Given the description of an element on the screen output the (x, y) to click on. 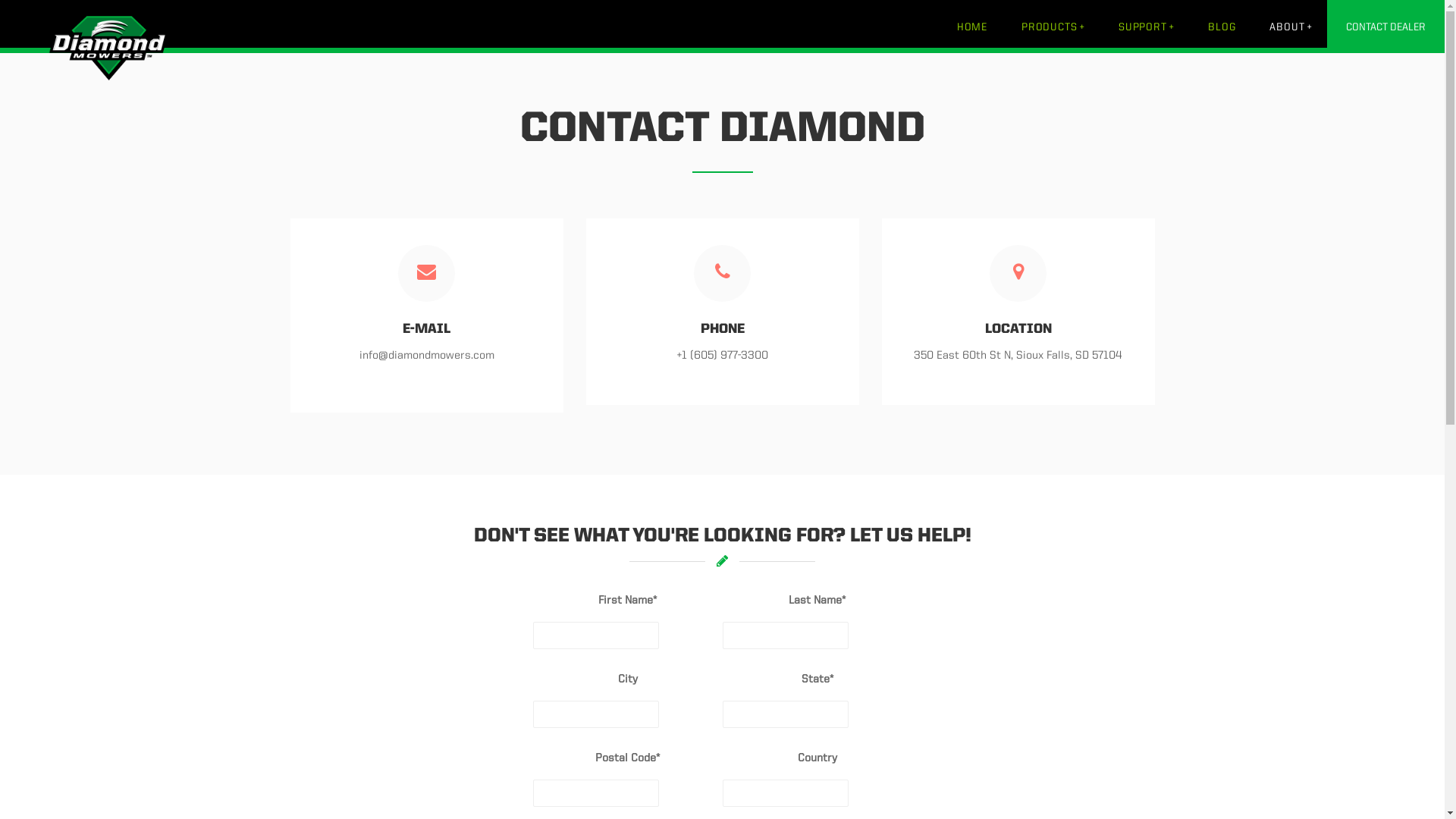
ABOUT Element type: text (1290, 26)
CONTACT DEALER Element type: text (1385, 26)
SUPPORT Element type: text (1145, 26)
PRODUCTS Element type: text (1052, 26)
BLOG Element type: text (1221, 26)
HOME Element type: text (971, 26)
